Given the description of an element on the screen output the (x, y) to click on. 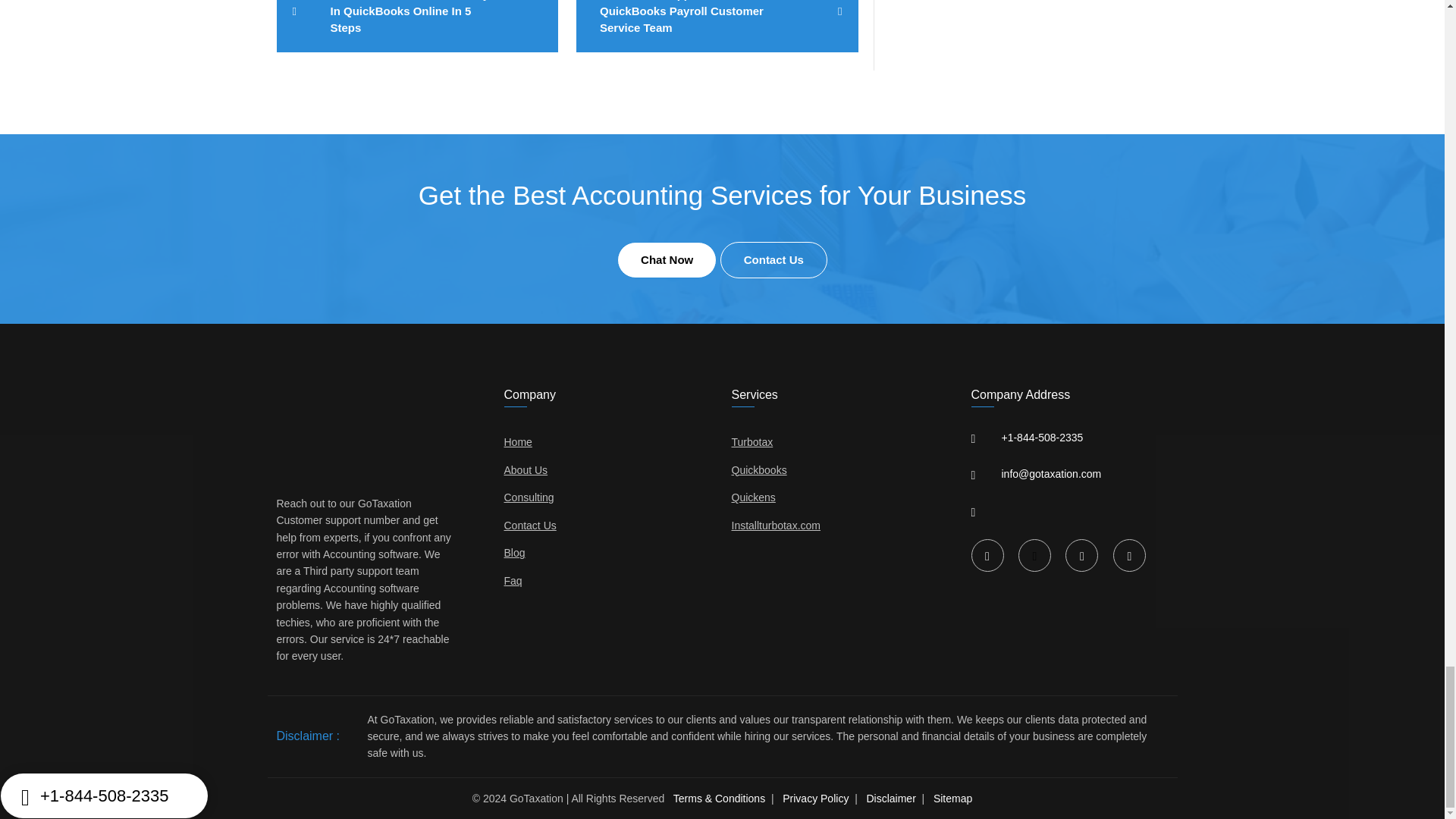
How To Make A Journal Entry In QuickBooks Online In 5 Steps (416, 26)
